Given the description of an element on the screen output the (x, y) to click on. 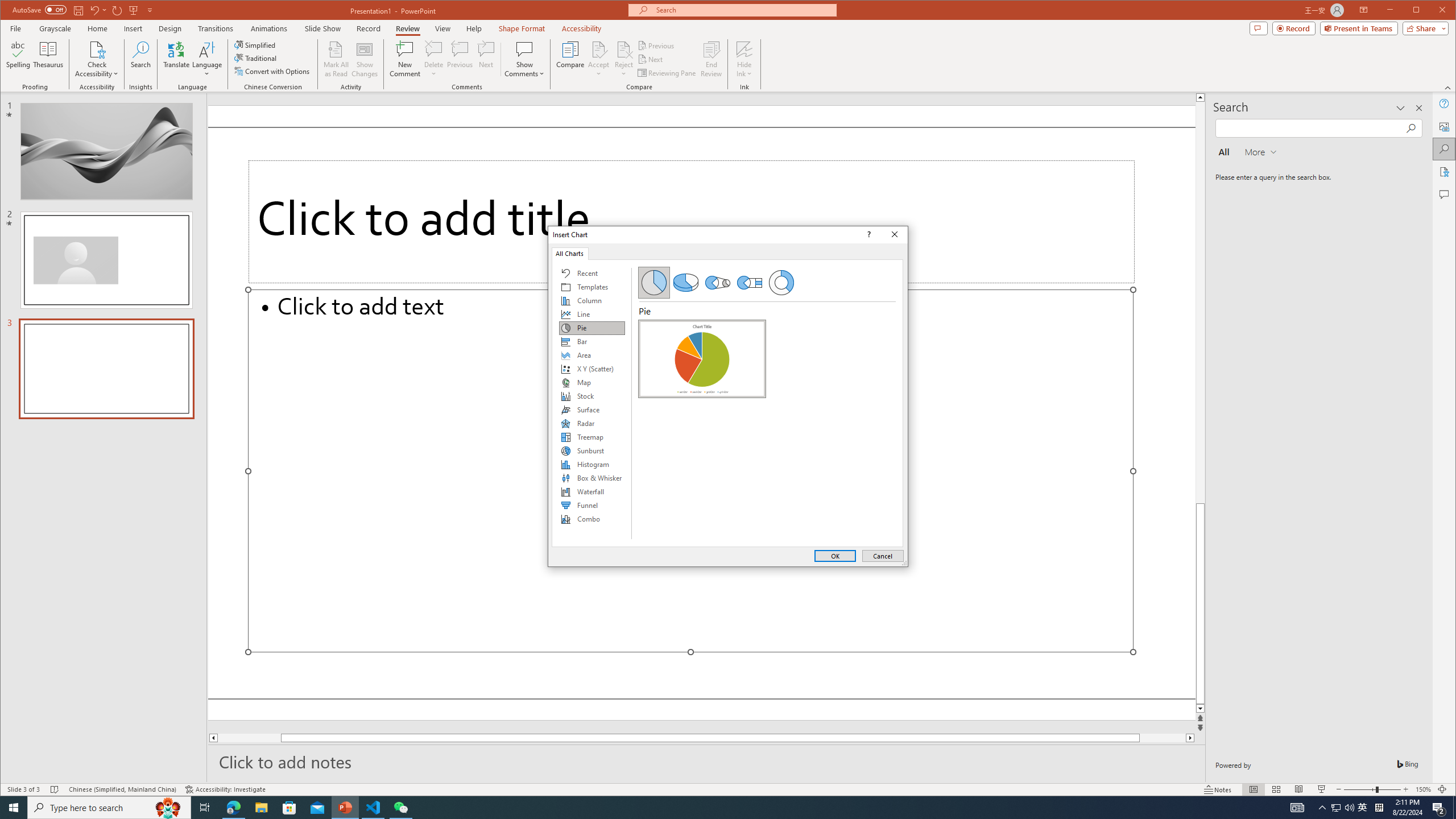
Map (591, 382)
User Promoted Notification Area (1342, 807)
Grayscale (55, 28)
